Given the description of an element on the screen output the (x, y) to click on. 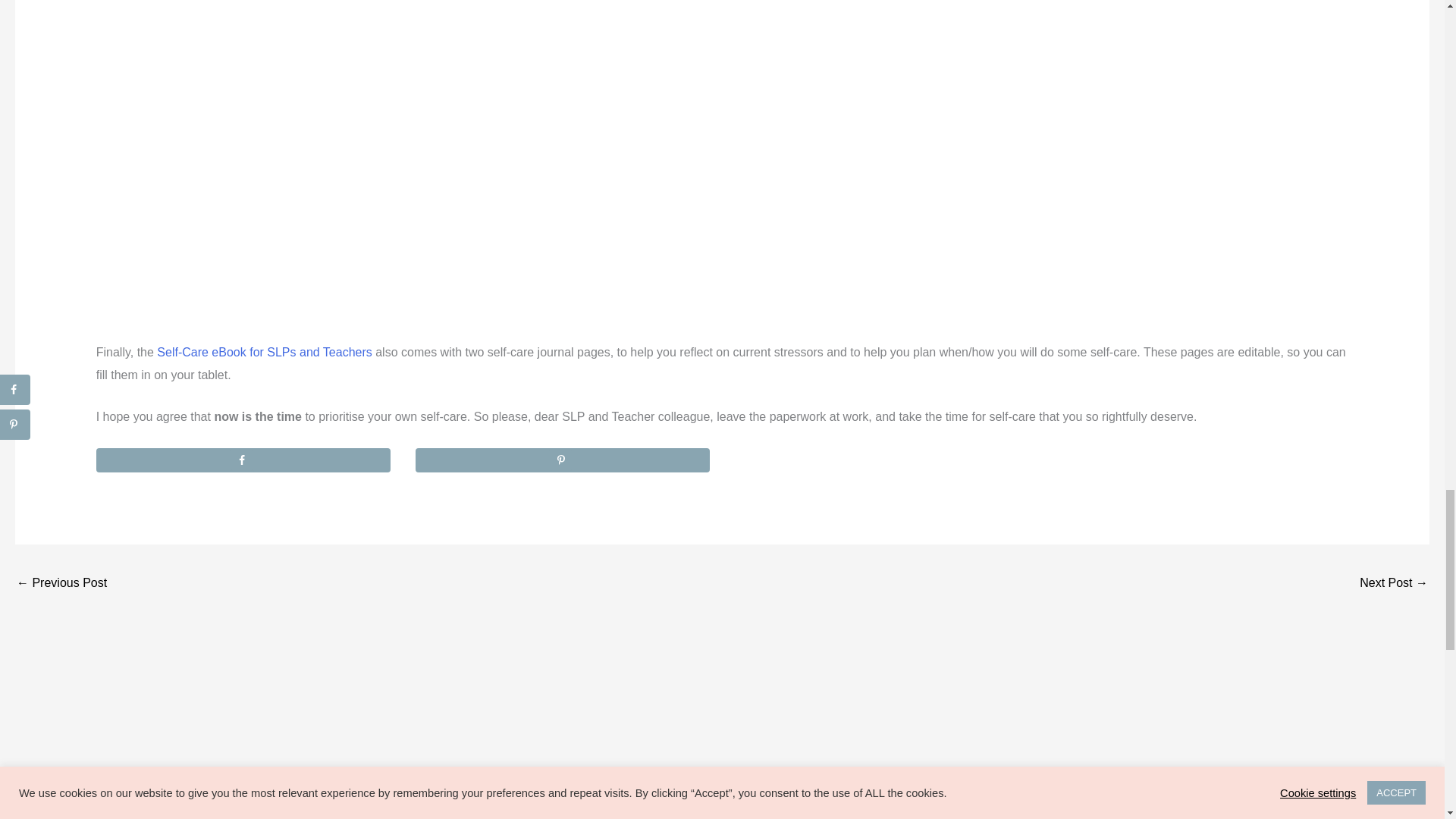
Twitter (745, 809)
The Best Site for Free eBooks for Speech Therapy (1393, 584)
Save to Pinterest (562, 459)
Share on Facebook (243, 459)
Facebook (709, 809)
5 Ways to Use Toy Cars to Support Early Language (61, 584)
Instagram (780, 809)
